Given the description of an element on the screen output the (x, y) to click on. 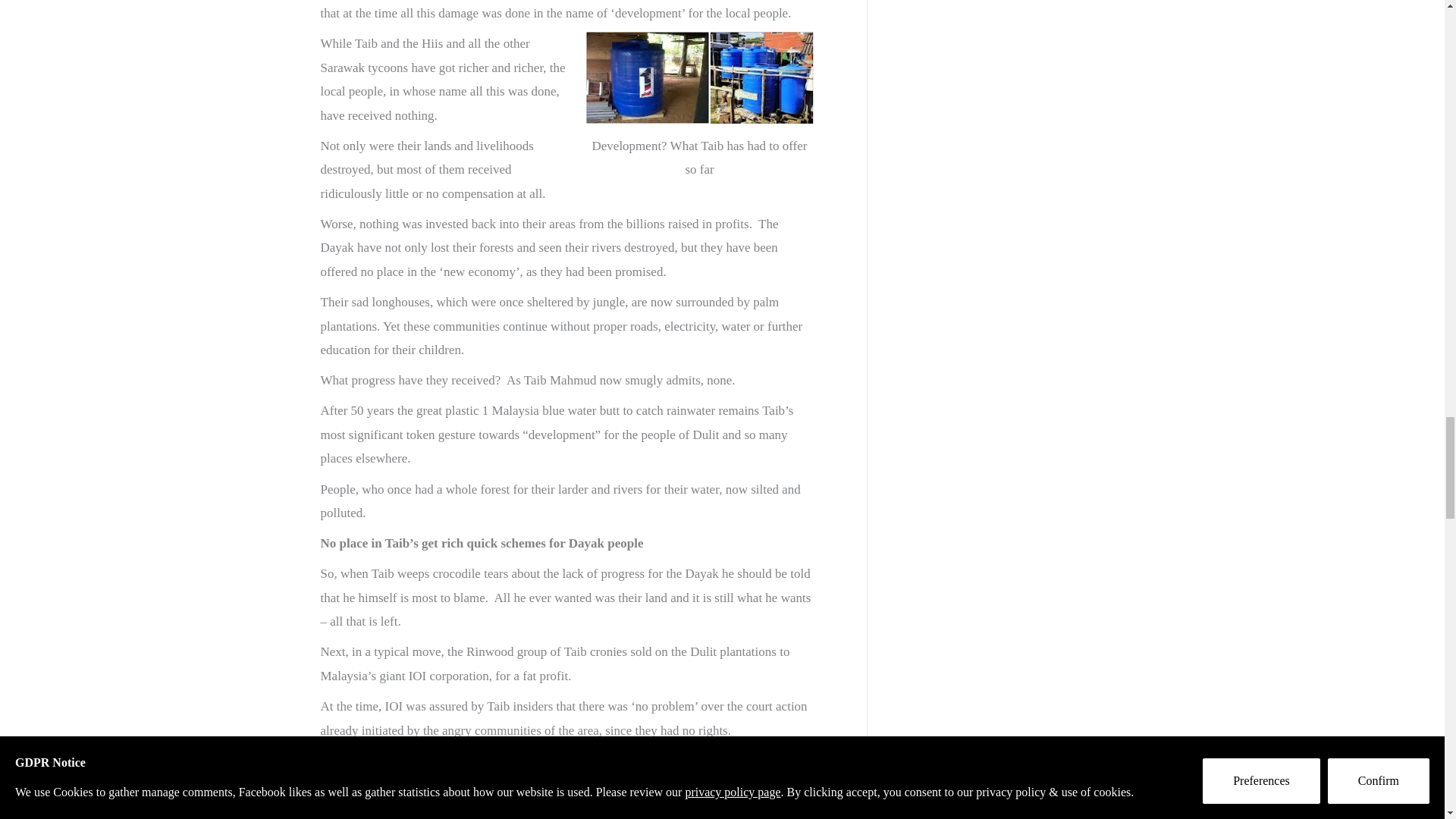
images (698, 77)
